Given the description of an element on the screen output the (x, y) to click on. 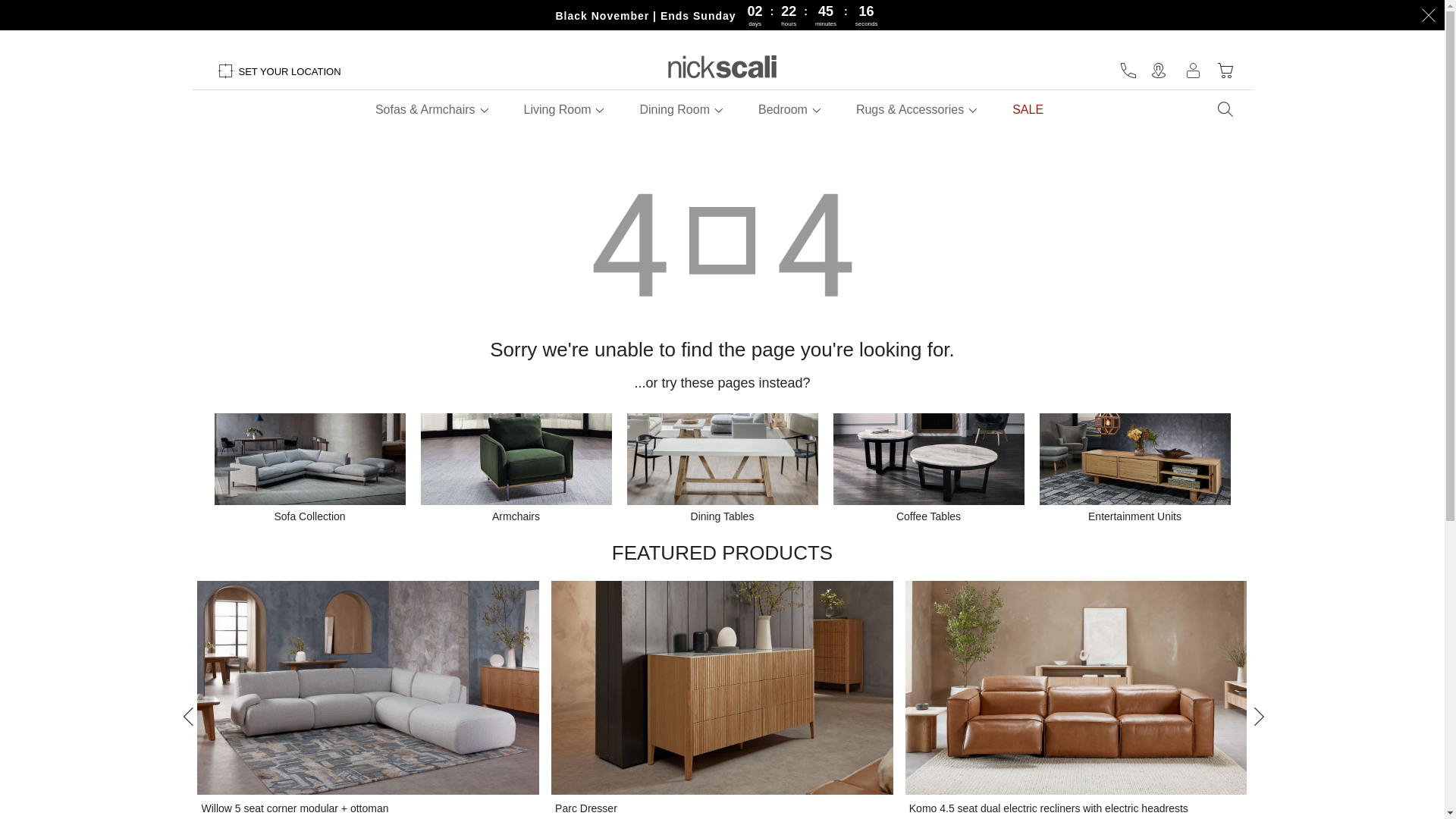
Armchairs Element type: text (515, 508)
Coffee Tables Element type: text (927, 508)
Living Room Element type: text (557, 109)
Bedroom Element type: text (782, 109)
Nick Scali Logo Element type: hover (722, 66)
Sofas & Armchairs Element type: text (425, 109)
Willow 5 seat corner modular + ottoman Element type: text (294, 809)
SALE Element type: text (1027, 109)
Black November | Ends Sunday Element type: text (645, 15)
Entertainment Units Element type: text (1134, 508)
Sofa Collection Element type: text (308, 508)
Rugs & Accessories Element type: text (909, 109)
Dining Room Element type: text (673, 109)
Parc Dresser Element type: text (586, 809)
Dining Tables Element type: text (721, 508)
My Cart Element type: text (1225, 70)
